Given the description of an element on the screen output the (x, y) to click on. 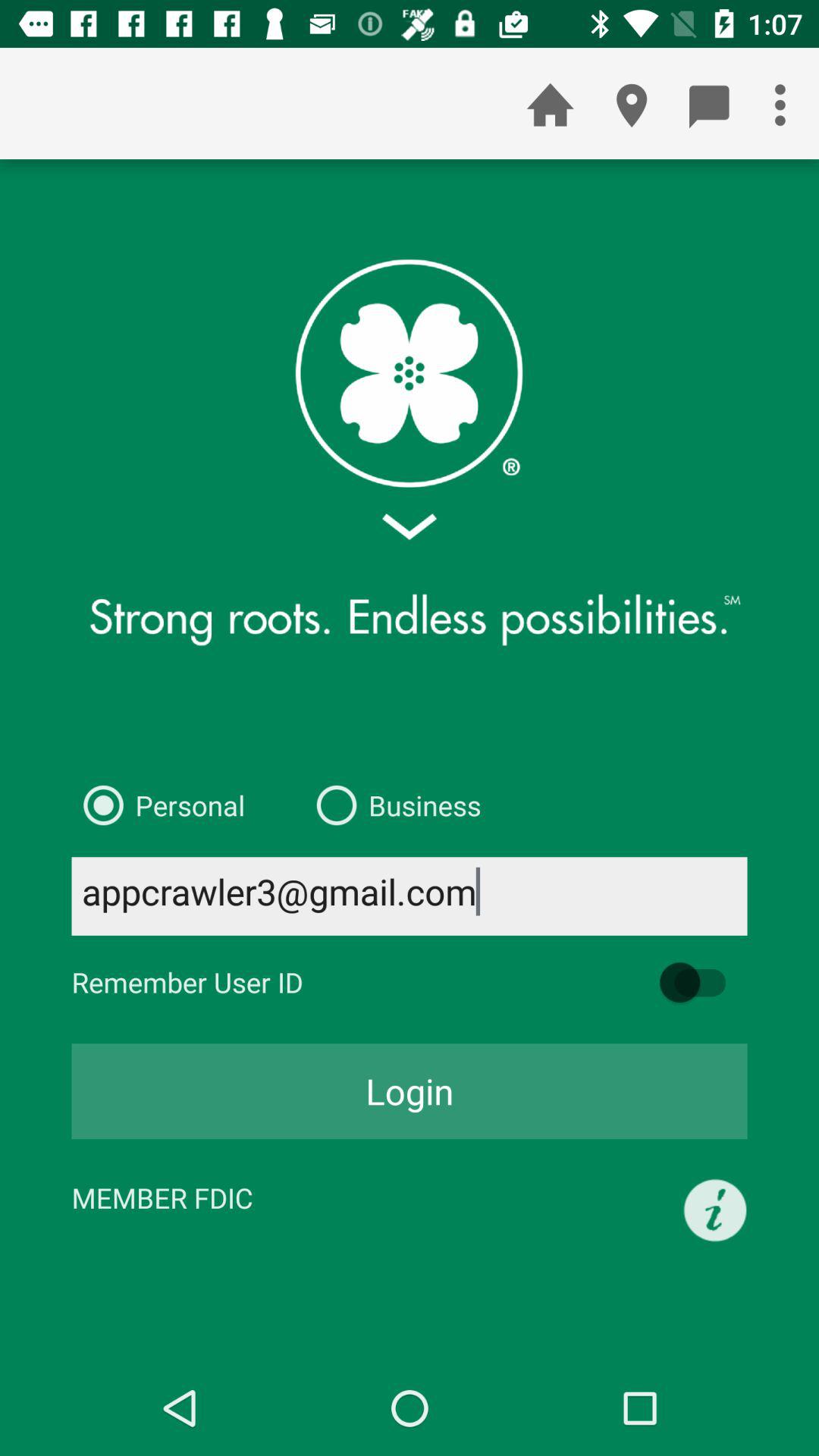
select item to the right of the personal icon (392, 805)
